Given the description of an element on the screen output the (x, y) to click on. 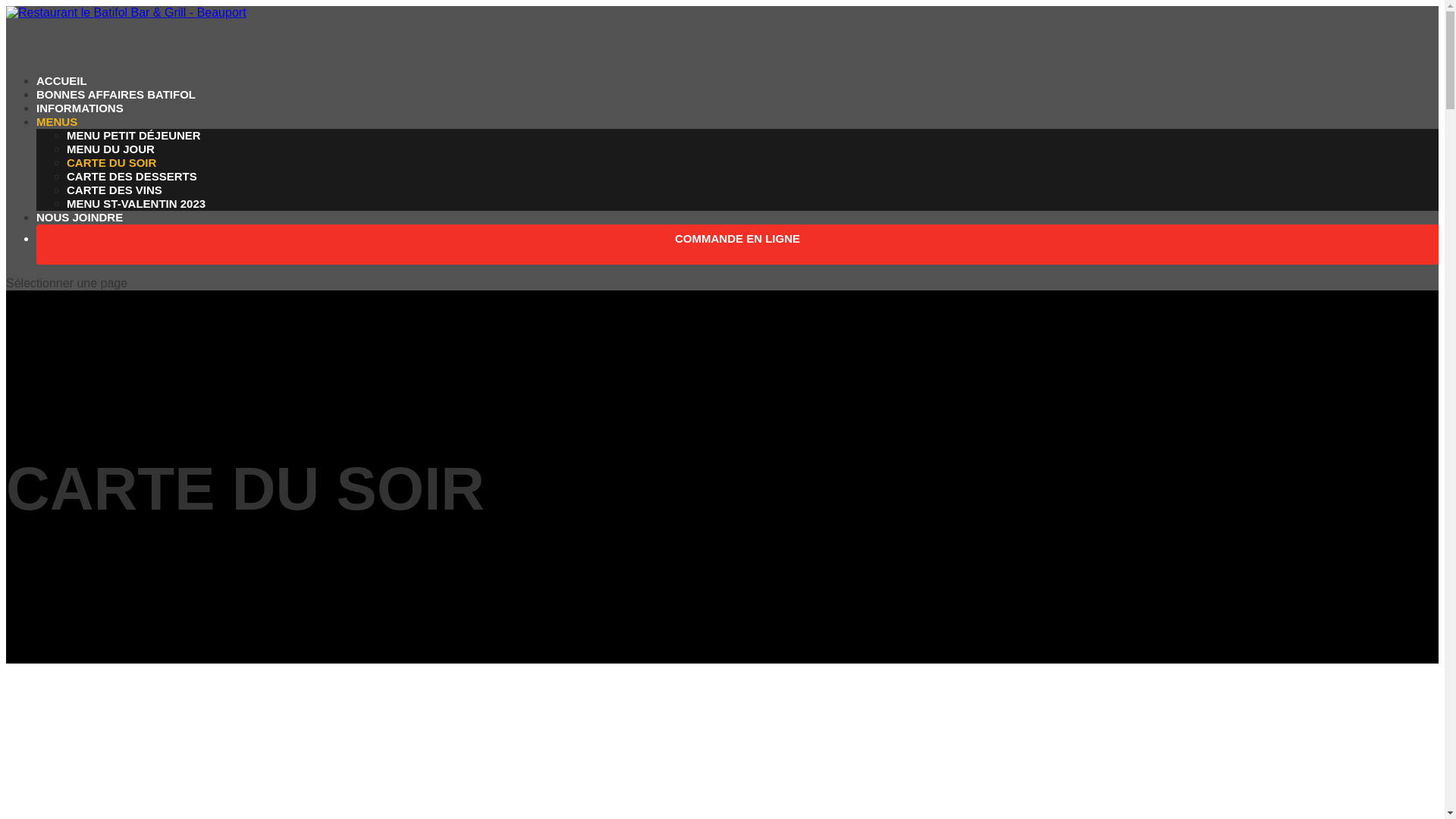
MENUS Element type: text (56, 142)
COMMANDE EN LIGNE Element type: text (737, 259)
CARTE DU SOIR Element type: text (111, 162)
MENU DU JOUR Element type: text (110, 148)
CARTE DES VINS Element type: text (114, 189)
ACCUEIL Element type: text (61, 101)
NOUS JOINDRE Element type: text (79, 238)
INFORMATIONS Element type: text (79, 128)
CARTE DES DESSERTS Element type: text (131, 175)
MENU ST-VALENTIN 2023 Element type: text (135, 203)
BONNES AFFAIRES BATIFOL Element type: text (115, 115)
